Given the description of an element on the screen output the (x, y) to click on. 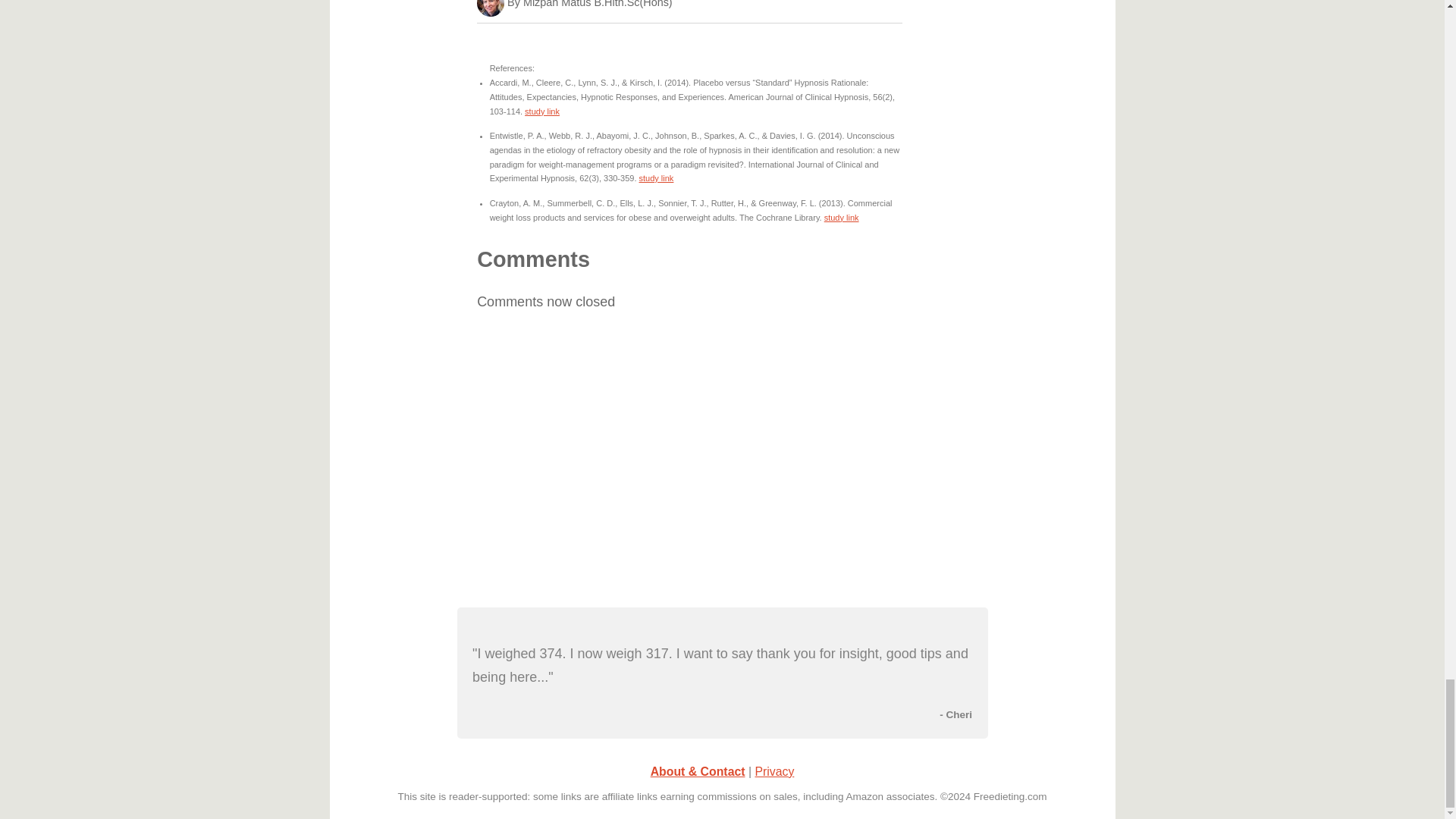
study link (841, 216)
study link (656, 177)
Privacy (773, 771)
study link (541, 111)
